Given the description of an element on the screen output the (x, y) to click on. 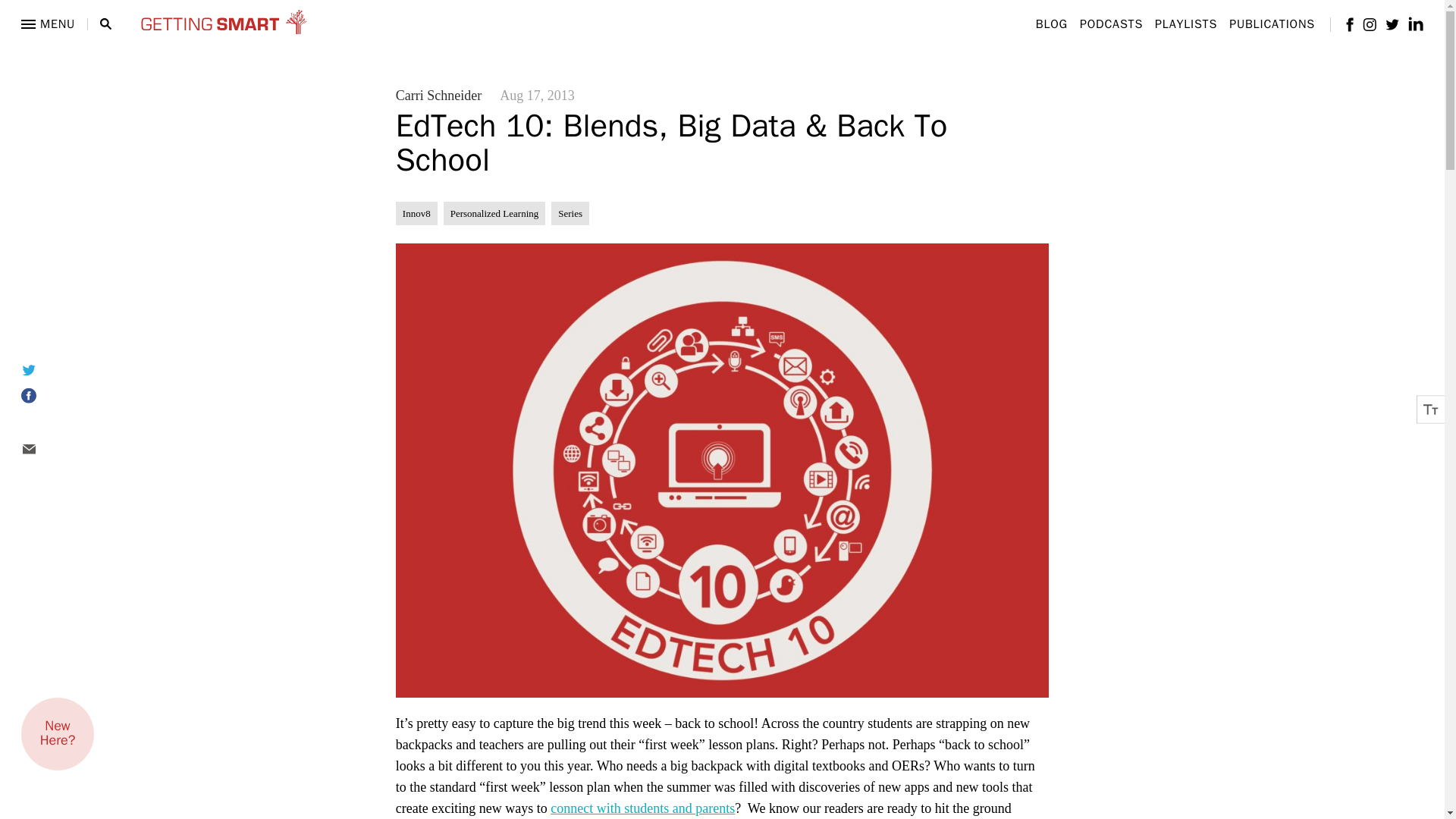
Share on Twitter (47, 369)
instagram (1368, 24)
BLOG (1051, 23)
PUBLICATIONS (1271, 23)
Share via Email (47, 449)
Share on LinkedIn (47, 422)
linkedin (1415, 23)
PLAYLISTS (1185, 23)
PODCASTS (1111, 23)
twitter (1392, 23)
